Given the description of an element on the screen output the (x, y) to click on. 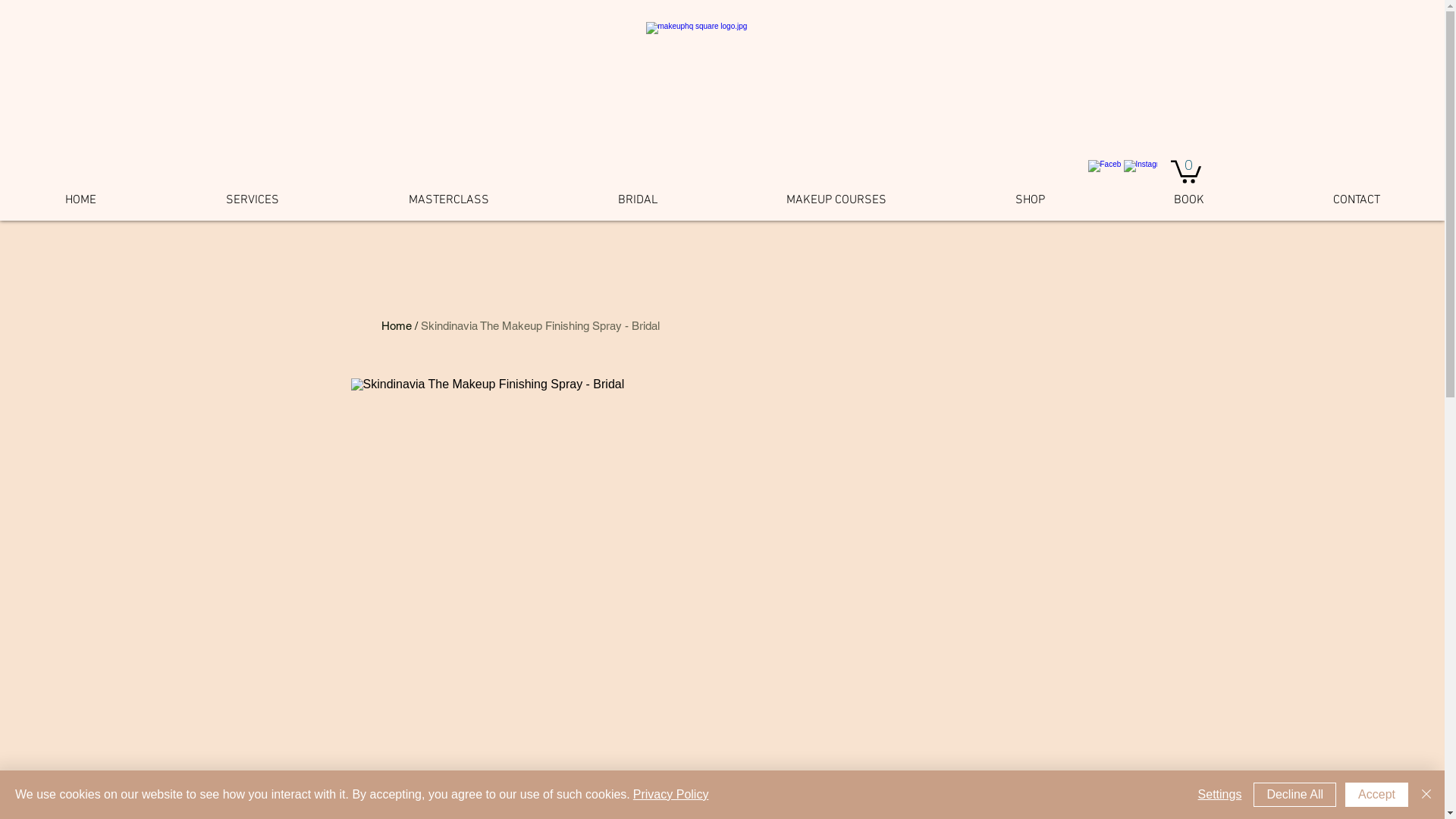
BOOK Element type: text (1188, 200)
SHOP Element type: text (1029, 200)
SERVICES Element type: text (251, 200)
Skindinavia The Makeup Finishing Spray - Bridal Element type: text (539, 325)
MAKEUP COURSES Element type: text (835, 200)
0 Element type: text (1185, 170)
CONTACT Element type: text (1356, 200)
Decline All Element type: text (1294, 794)
HOME Element type: text (80, 200)
MASTERCLASS Element type: text (448, 200)
Privacy Policy Element type: text (671, 793)
Accept Element type: text (1376, 794)
BRIDAL Element type: text (637, 200)
Home Element type: text (395, 325)
